Given the description of an element on the screen output the (x, y) to click on. 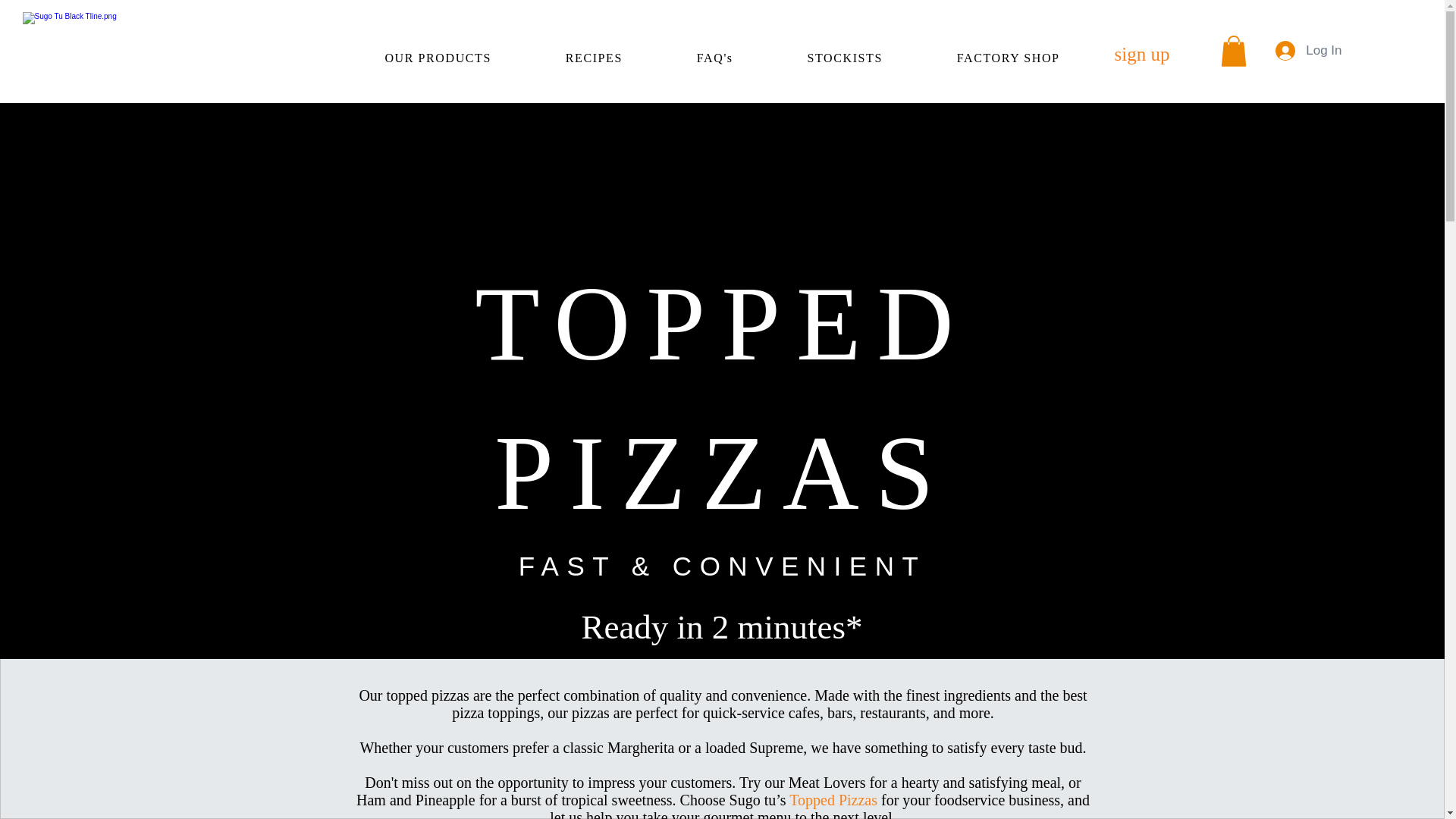
FAQ's (714, 59)
Log In (1308, 50)
FACTORY SHOP (1008, 59)
sign up (1142, 53)
RECIPES (593, 59)
STOCKISTS (845, 59)
Topped Pizzas (833, 799)
